Given the description of an element on the screen output the (x, y) to click on. 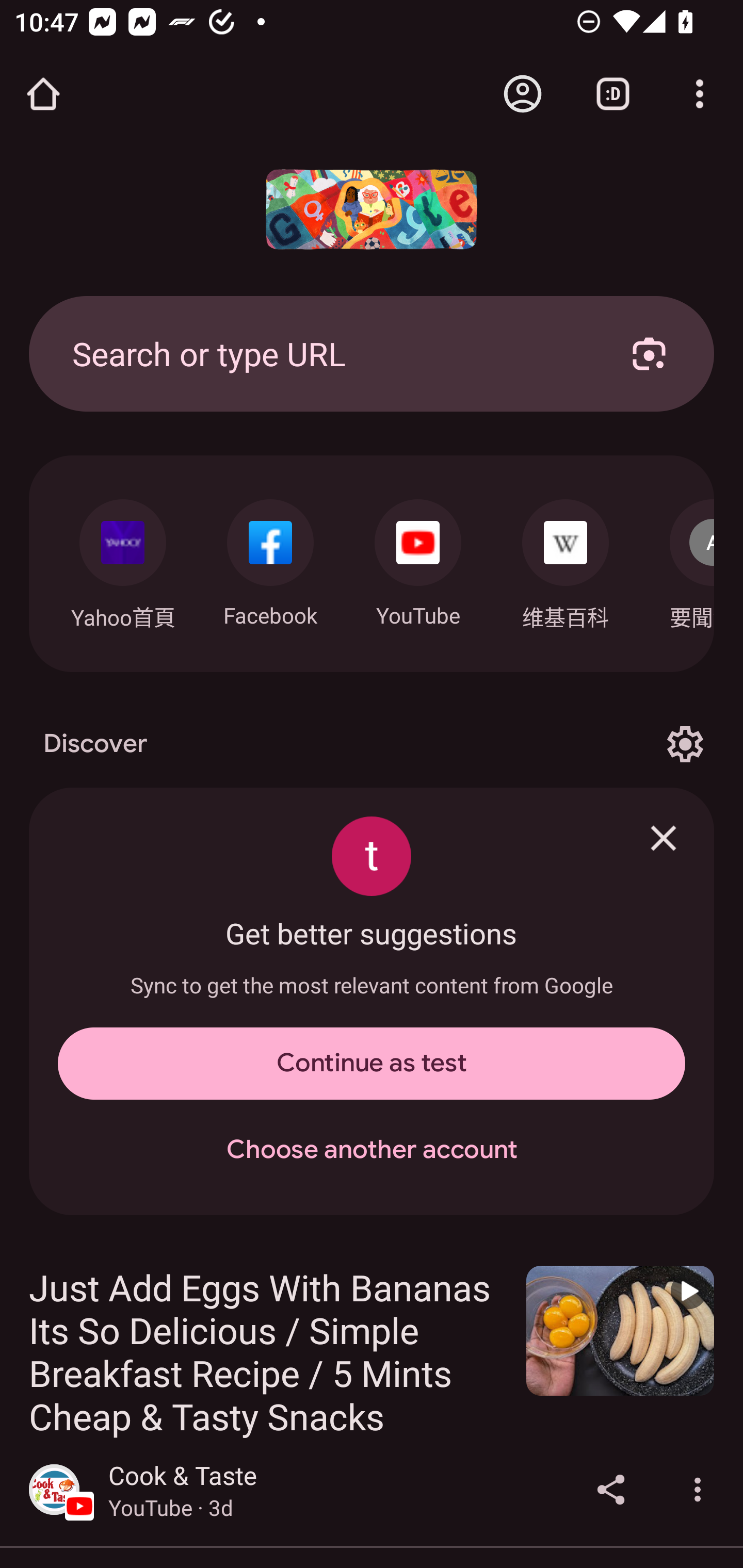
Open the home page (43, 93)
Switch or close tabs (612, 93)
Customize and control Google Chrome (699, 93)
Google doodle: 2024 年國際婦女節 (371, 209)
Search or type URL (327, 353)
Search with your camera using Google Lens (648, 353)
Navigate: Yahoo首頁: hk.mobi.yahoo.com Yahoo首頁 (122, 558)
Navigate: Facebook: m.facebook.com Facebook (270, 558)
Navigate: YouTube: m.youtube.com YouTube (417, 558)
Navigate: 维基百科: zh.m.wikipedia.org 维基百科 (565, 558)
Options for Discover (684, 743)
Close (663, 837)
Continue as test (371, 1063)
Choose another account (371, 1150)
